Given the description of an element on the screen output the (x, y) to click on. 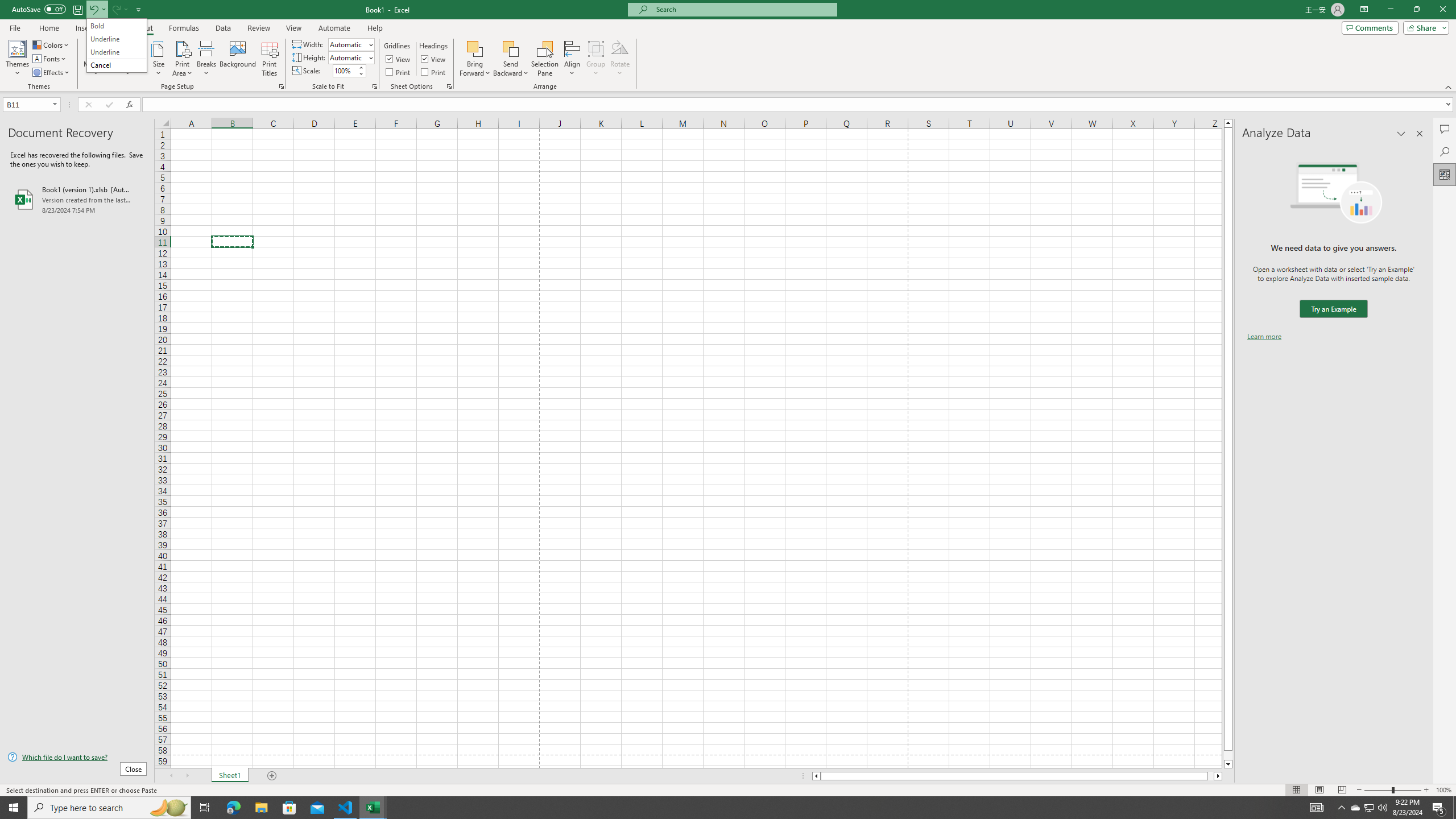
Search highlights icon opens search home window (167, 807)
